Given the description of an element on the screen output the (x, y) to click on. 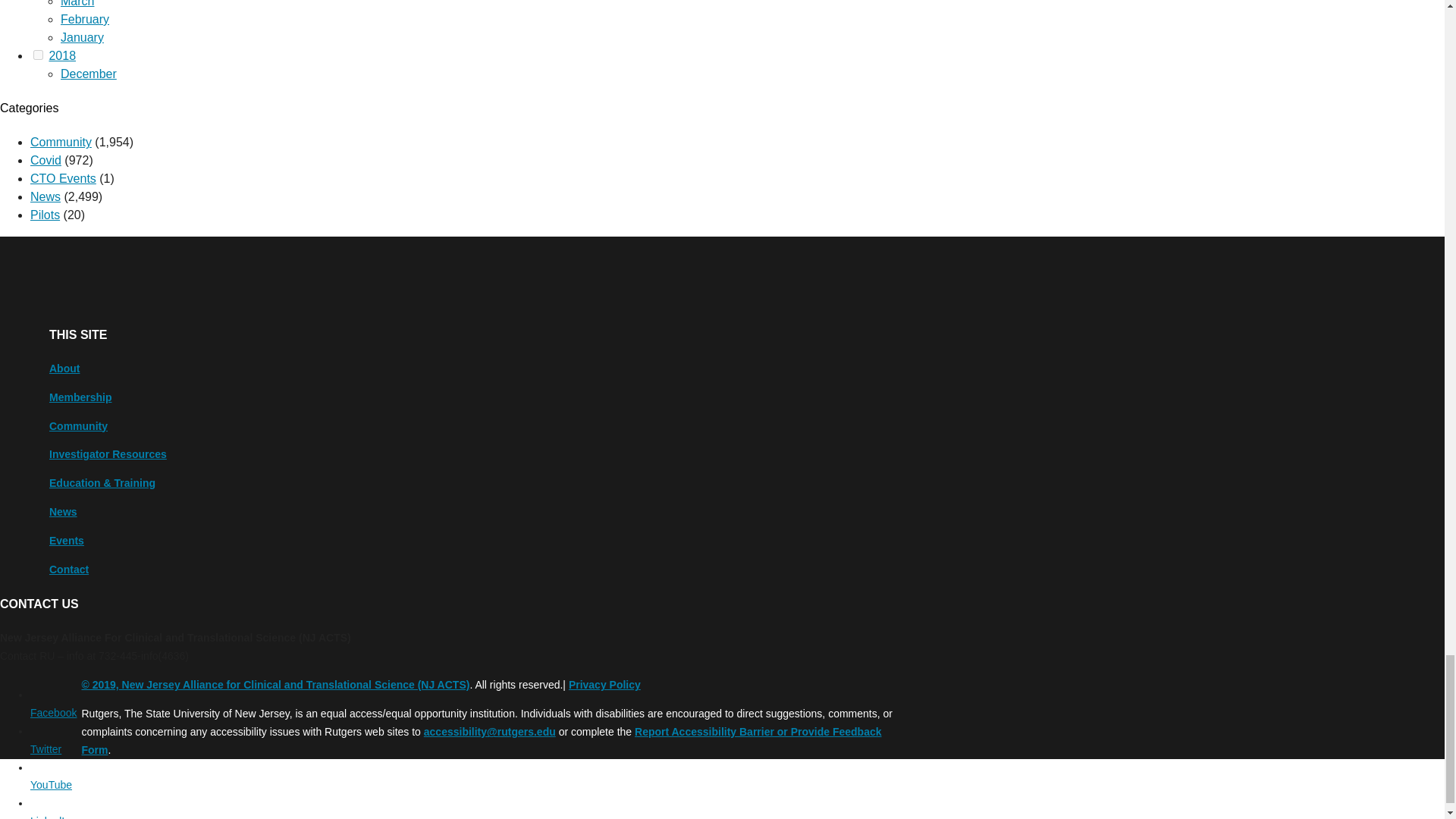
on (38, 54)
